Given the description of an element on the screen output the (x, y) to click on. 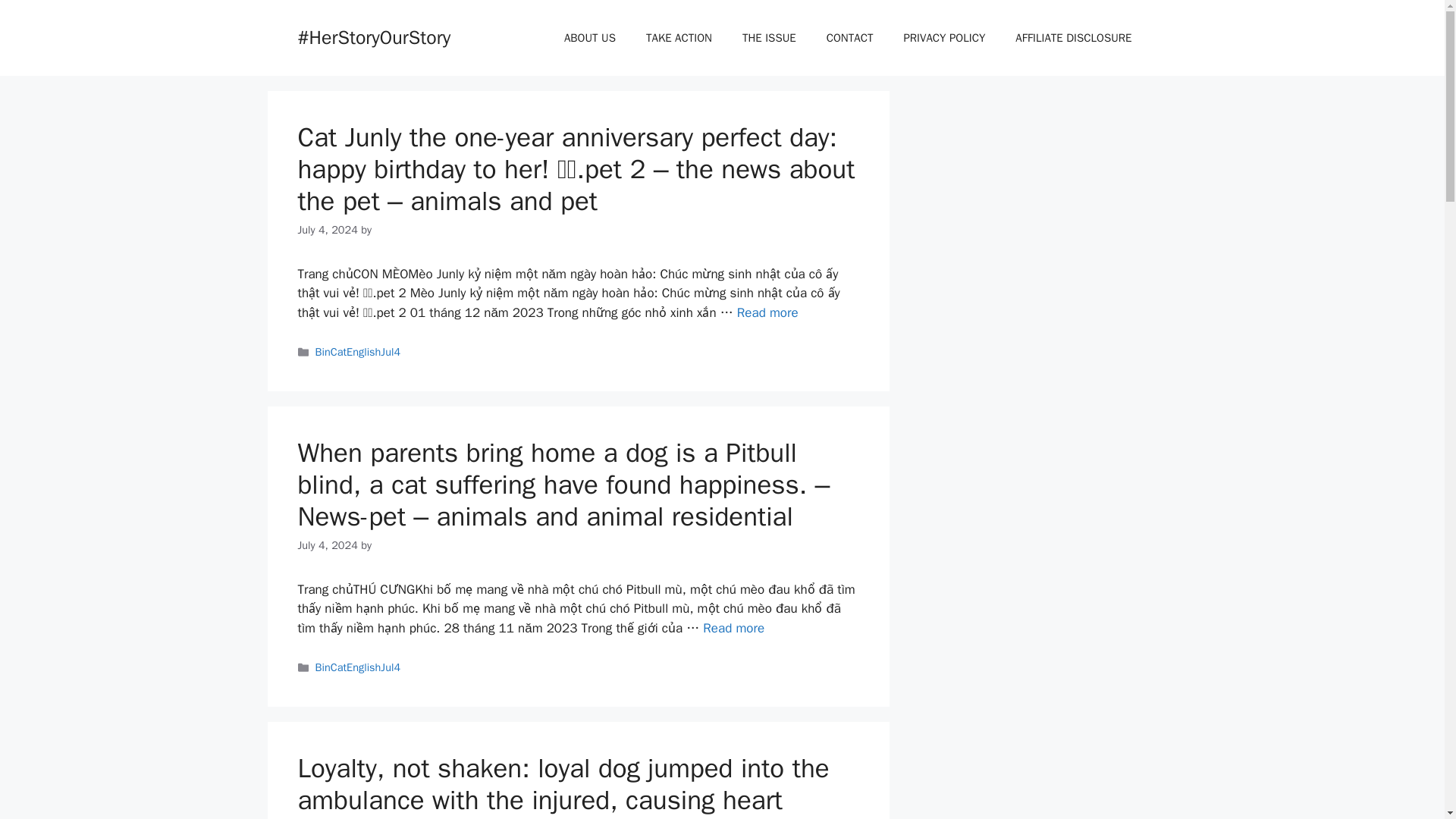
TAKE ACTION (678, 37)
PRIVACY POLICY (944, 37)
CONTACT (849, 37)
BinCatEnglishJul4 (357, 351)
BinCatEnglishJul4 (357, 667)
THE ISSUE (768, 37)
Read more (733, 627)
ABOUT US (589, 37)
Read more (766, 312)
